Given the description of an element on the screen output the (x, y) to click on. 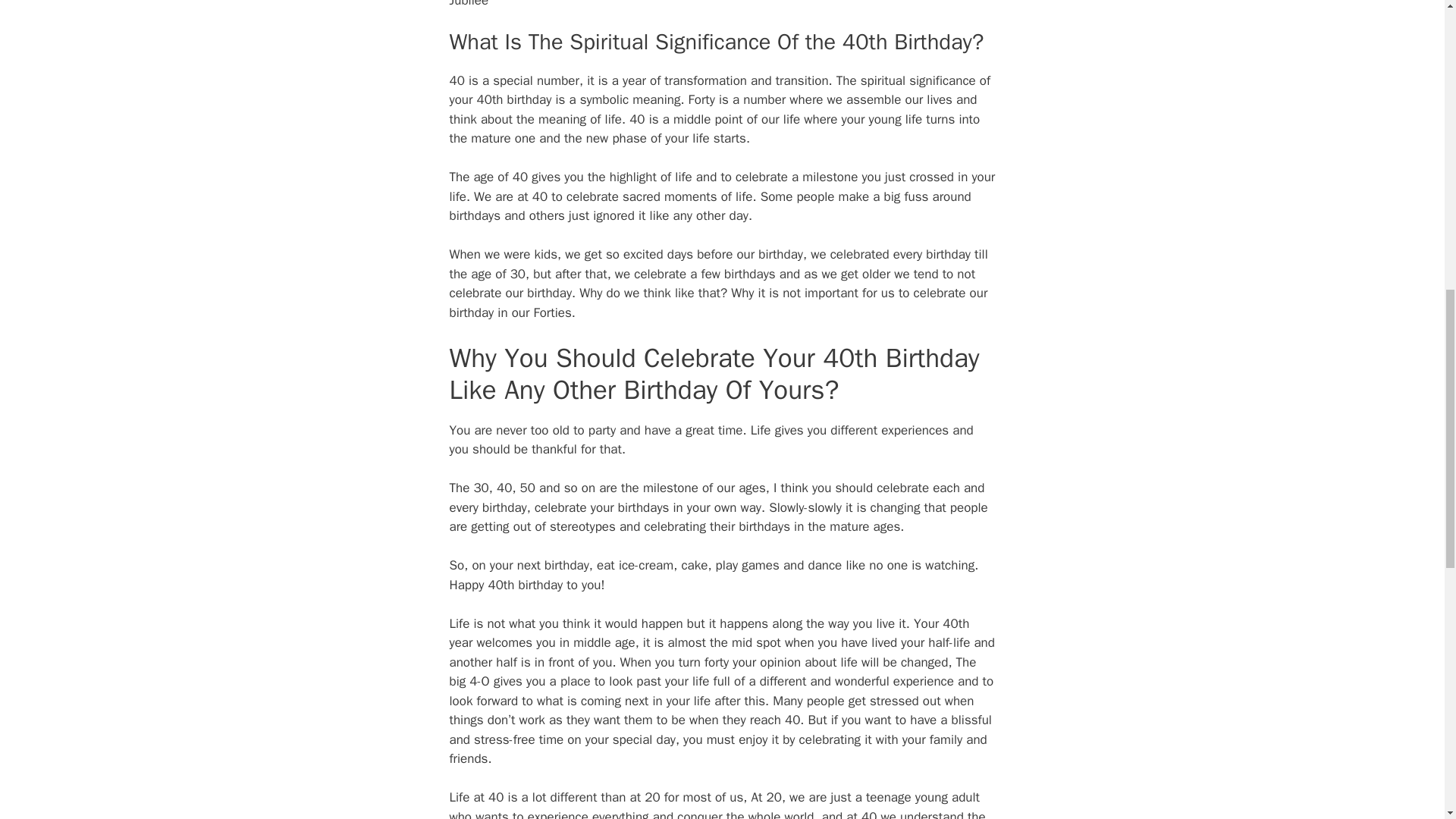
Scroll back to top (1406, 720)
